Given the description of an element on the screen output the (x, y) to click on. 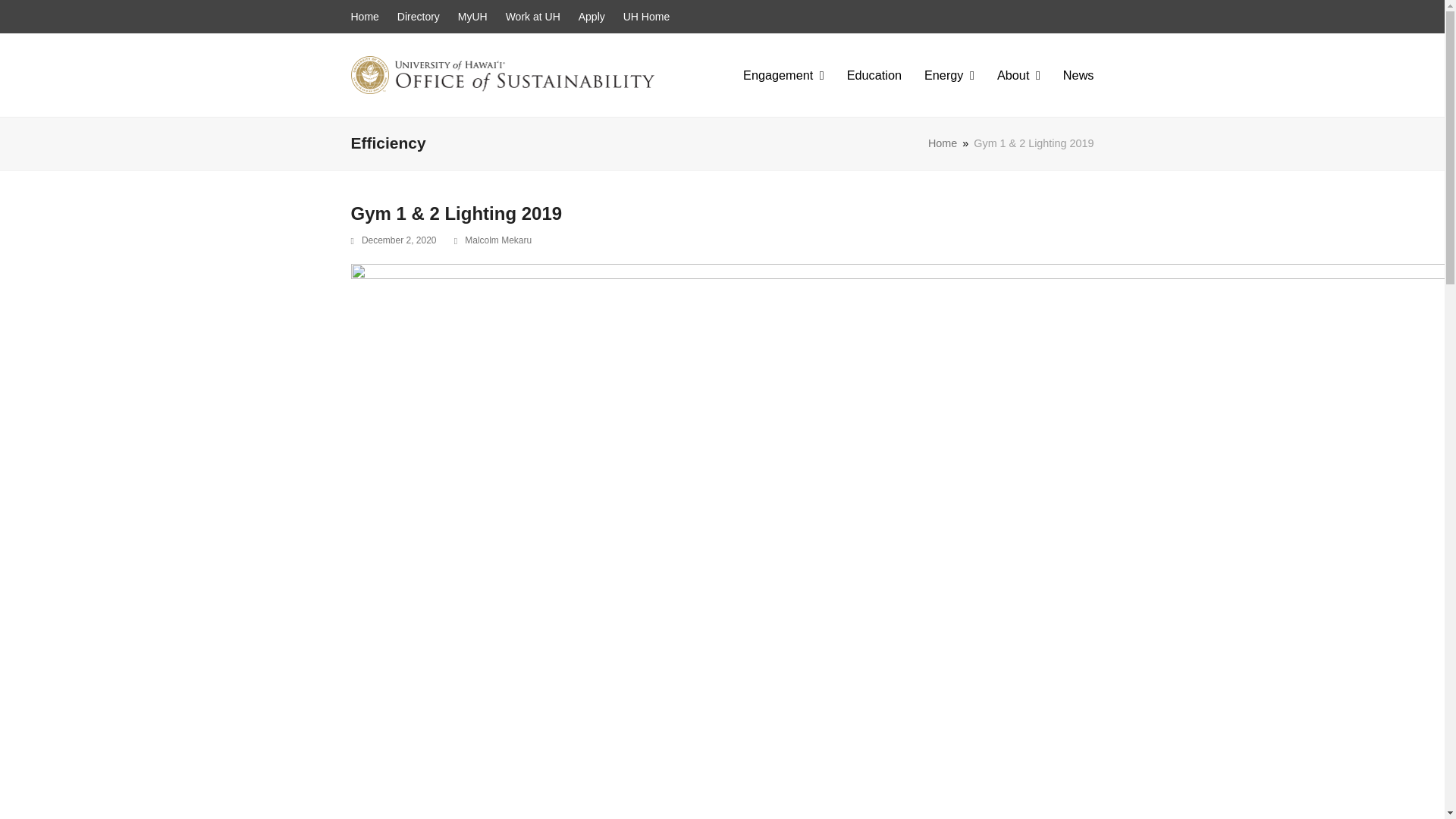
MyUH (472, 16)
Home (364, 16)
UH Home (646, 16)
Malcolm Mekaru (497, 240)
University of Hawaii Sustainability News (1078, 75)
Directory (418, 16)
Apply (591, 16)
News (1078, 75)
Posts by Malcolm Mekaru (497, 240)
About (1018, 75)
